Given the description of an element on the screen output the (x, y) to click on. 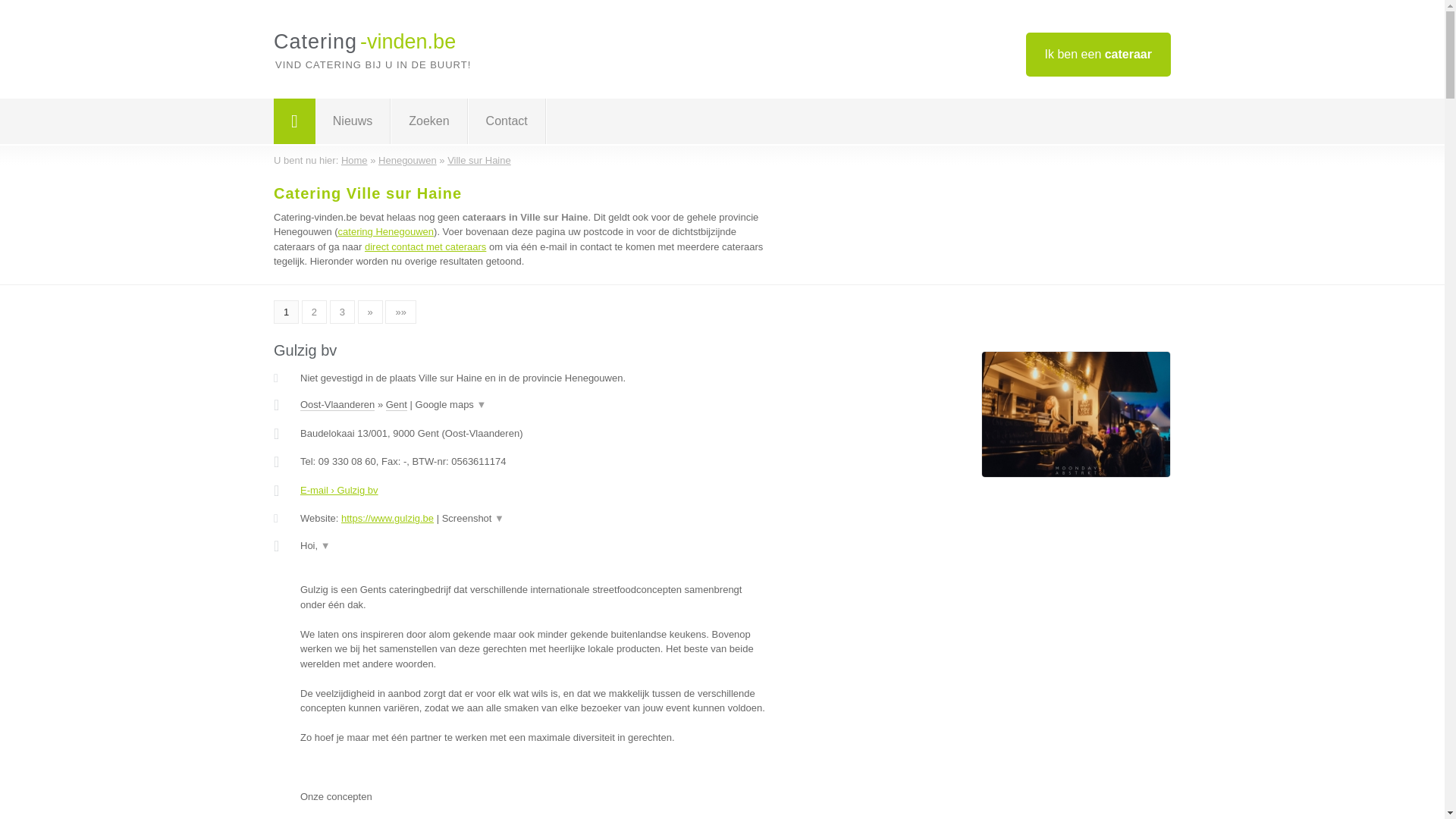
Oost-Vlaanderen Element type: text (337, 404)
catering Henegouwen Element type: text (385, 231)
Catering Element type: hover (294, 121)
Henegouwen Element type: text (407, 160)
Zoeken Element type: text (428, 121)
Home Element type: text (354, 160)
Gent Element type: text (396, 404)
direct contact met cateraars Element type: text (425, 246)
3 Element type: text (341, 311)
2 Element type: text (313, 311)
https://www.gulzig.be Element type: text (387, 518)
Catering-vinden.be Element type: text (364, 41)
Nieuws Element type: text (352, 121)
Gulzig bv Element type: text (304, 350)
1 Element type: text (285, 311)
Ik ben een cateraar Element type: text (1097, 54)
Ville sur Haine Element type: text (479, 160)
Contact Element type: text (506, 121)
